Given the description of an element on the screen output the (x, y) to click on. 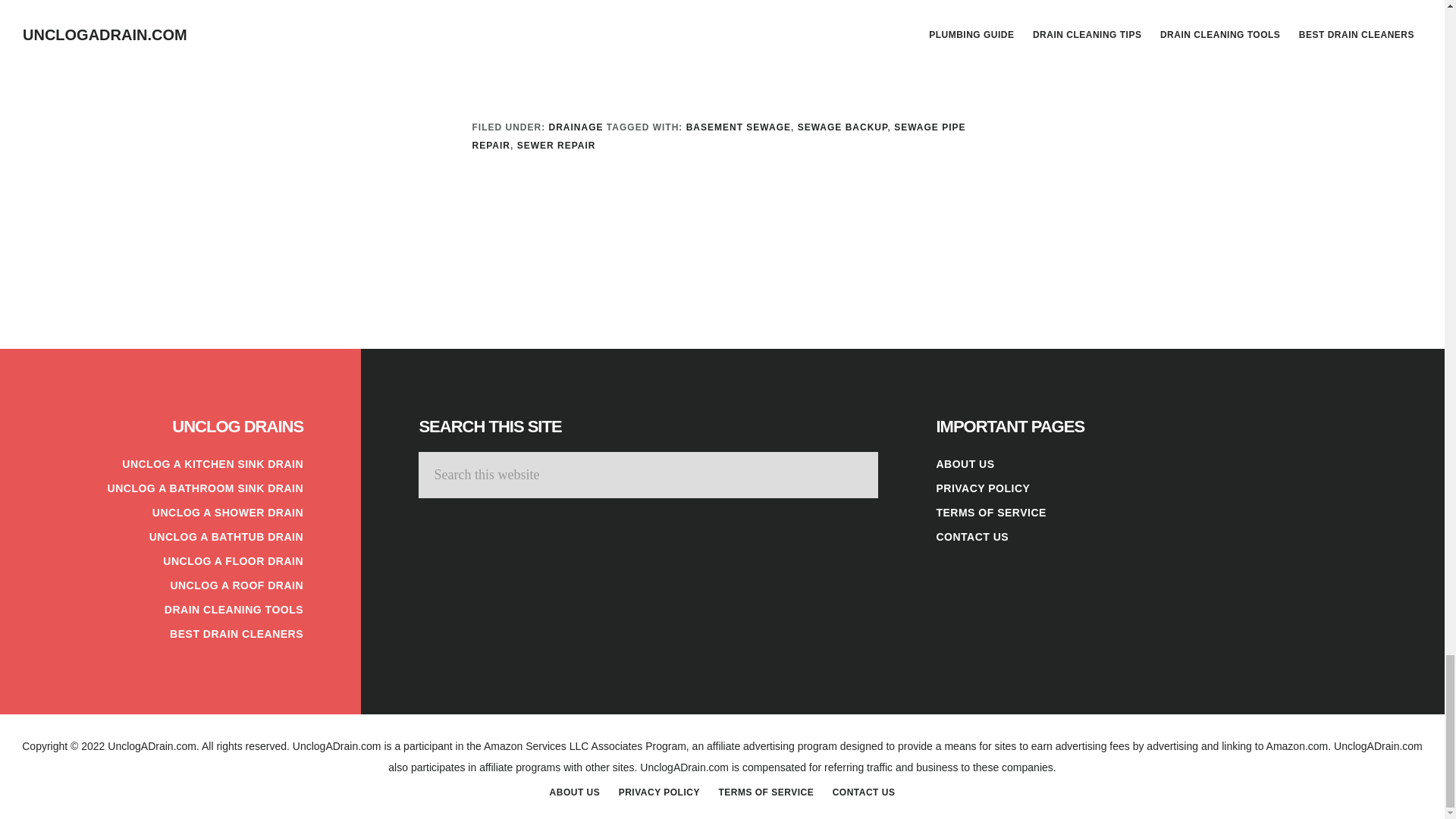
UNCLOG A BATHROOM SINK DRAIN (204, 488)
UNCLOG A BATHTUB DRAIN (225, 536)
BASEMENT SEWAGE (737, 127)
UNCLOG A ROOF DRAIN (236, 585)
SEWER REPAIR (555, 145)
UNCLOG A FLOOR DRAIN (232, 561)
UNCLOG A KITCHEN SINK DRAIN (212, 463)
SEWAGE BACKUP (842, 127)
SEWAGE PIPE REPAIR (718, 136)
DRAINAGE (576, 127)
UNCLOG A SHOWER DRAIN (227, 512)
